Given the description of an element on the screen output the (x, y) to click on. 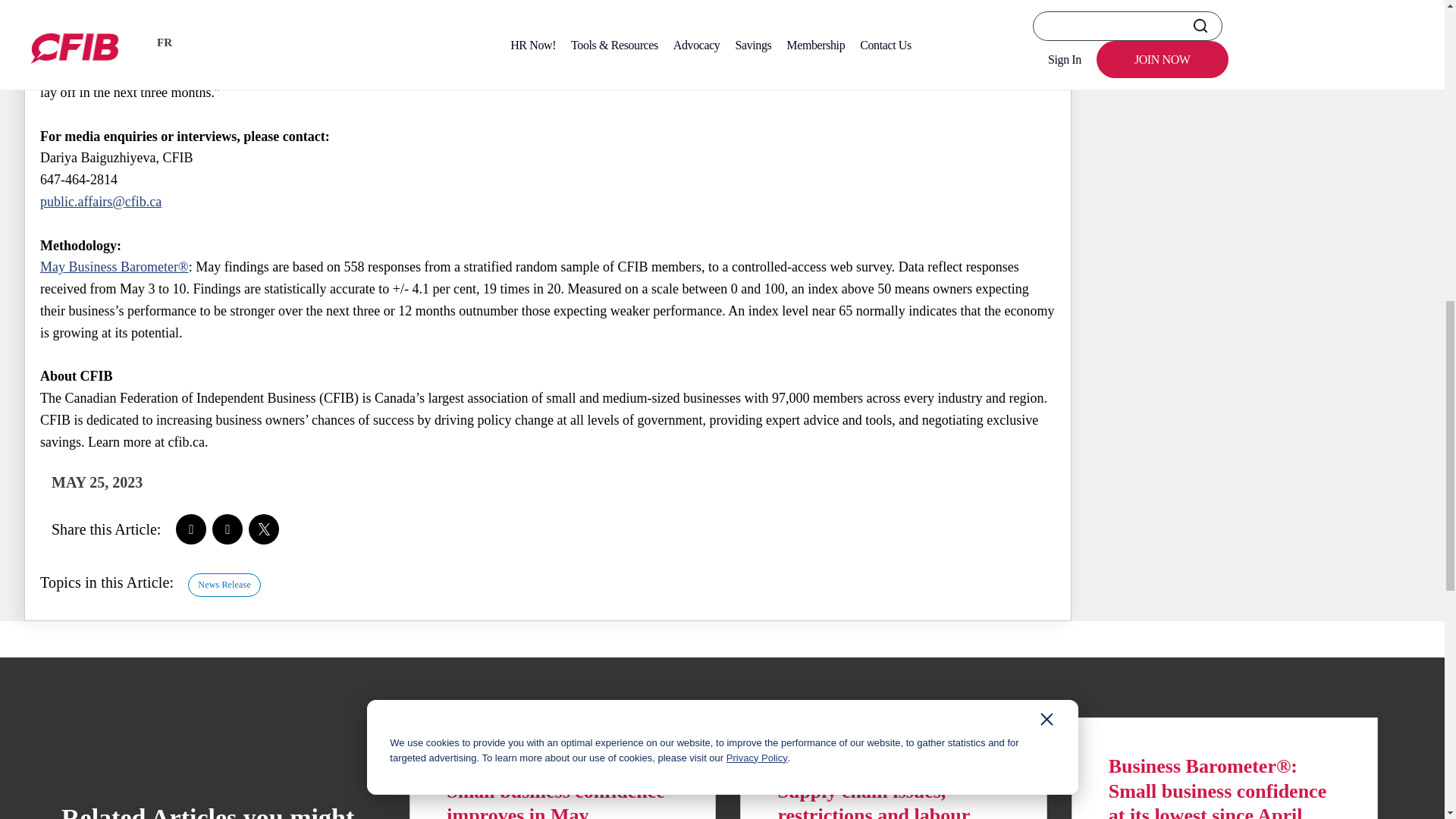
News Release (223, 585)
Share on Facebook (191, 529)
Share on LinkedIn (227, 529)
Share on Facebook (191, 529)
Share on LinkedIn (227, 529)
Share on Twitter (263, 529)
Share on Twitter (263, 529)
